Given the description of an element on the screen output the (x, y) to click on. 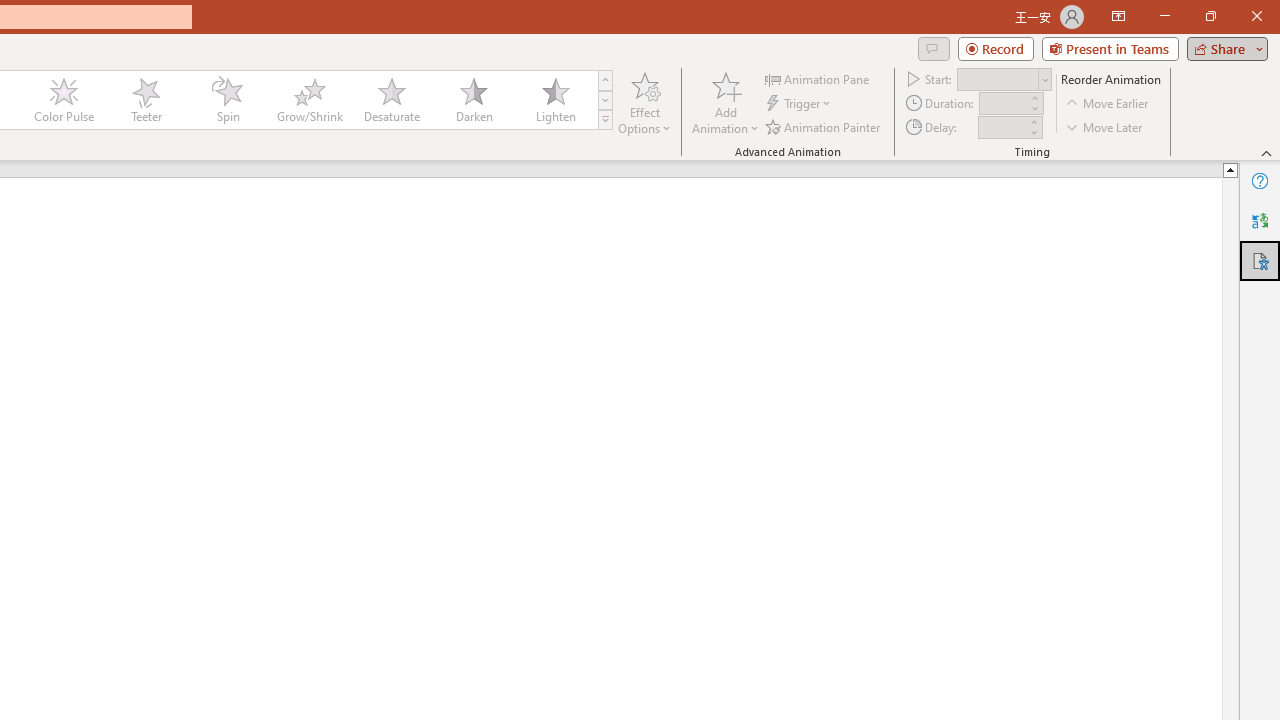
Trigger (799, 103)
Move Earlier (1107, 103)
Spin (227, 100)
Animation Pane (818, 78)
Animation Duration (1003, 103)
Teeter (145, 100)
Desaturate (391, 100)
